Given the description of an element on the screen output the (x, y) to click on. 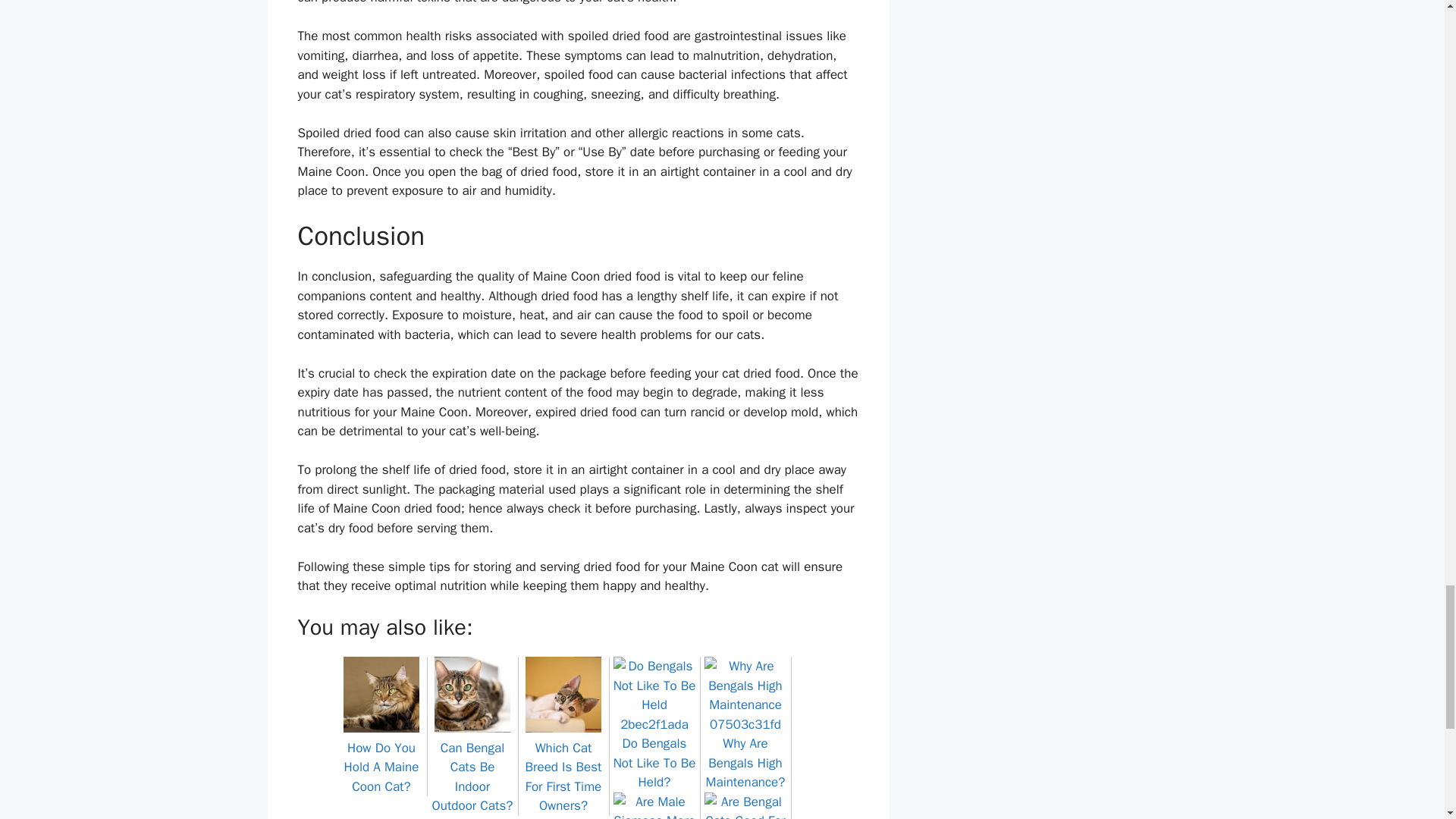
Which Cat Breed Is Best For First Time Owners? 3 (563, 694)
How Do You Hold A Maine Coon Cat? 1 (381, 694)
How Do You Hold A Maine Coon Cat? (381, 757)
Are Male Siamese More Affectionate? 6 (653, 805)
Are Bengal Cats Good For First Time Cat Owners? 7 (744, 805)
Why Are Bengals High Maintenance? (744, 753)
Do Bengals Not Like To Be Held? (653, 753)
Why Are Bengals High Maintenance? 5 (744, 694)
Do Bengals Not Like To Be Held? 4 (653, 694)
Can Bengal Cats Be Indoor Outdoor Cats? 2 (472, 694)
